Given the description of an element on the screen output the (x, y) to click on. 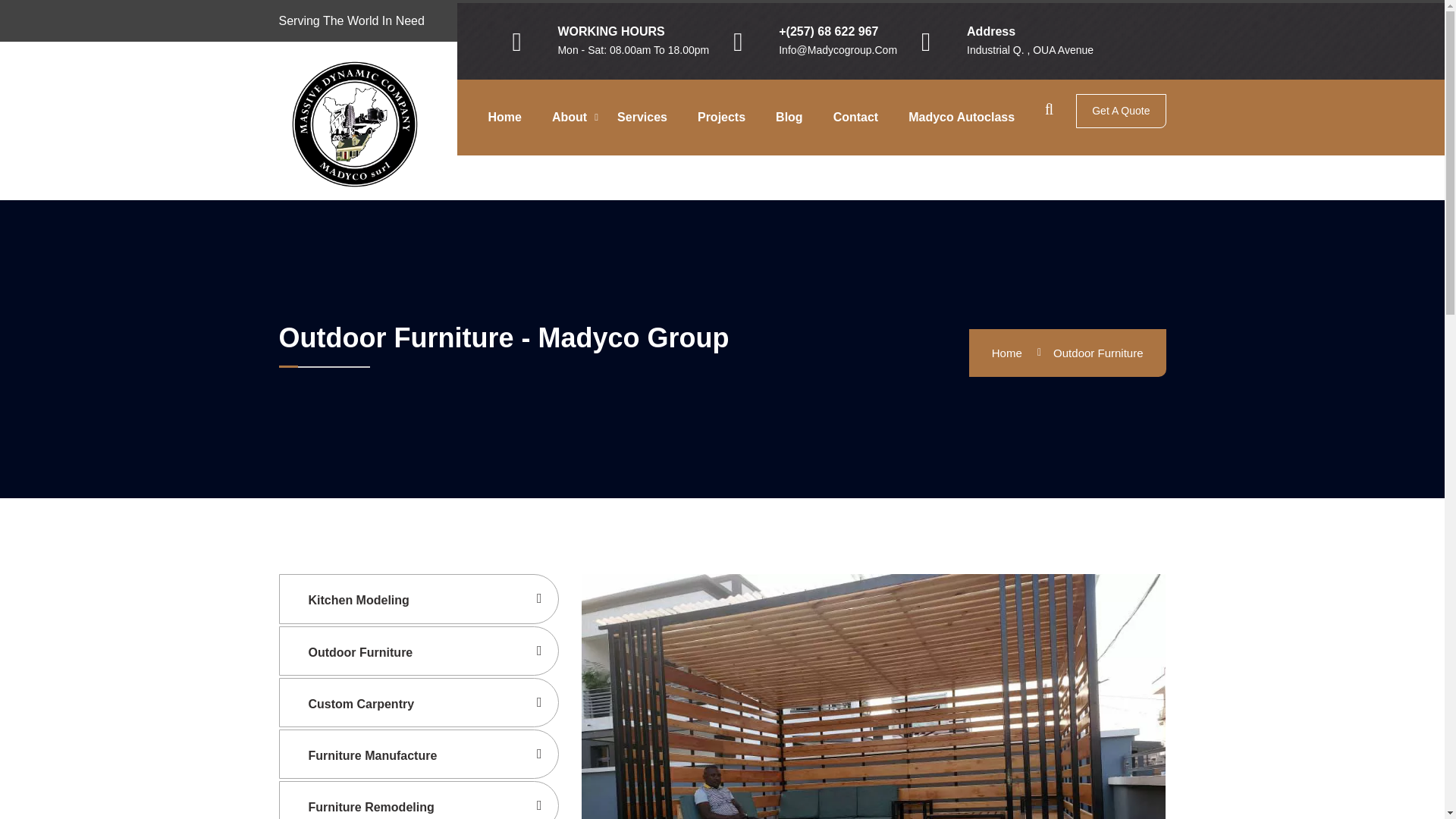
Madyco Autoclass (967, 117)
Custom Carpentry (419, 702)
Furniture Manufacture (419, 753)
Home   (1009, 352)
Kitchen Modeling (419, 598)
Get A Quote (1120, 110)
Outdoor Furniture (419, 650)
Furniture Remodeling (419, 800)
Massive Dynamic Company (354, 123)
